Given the description of an element on the screen output the (x, y) to click on. 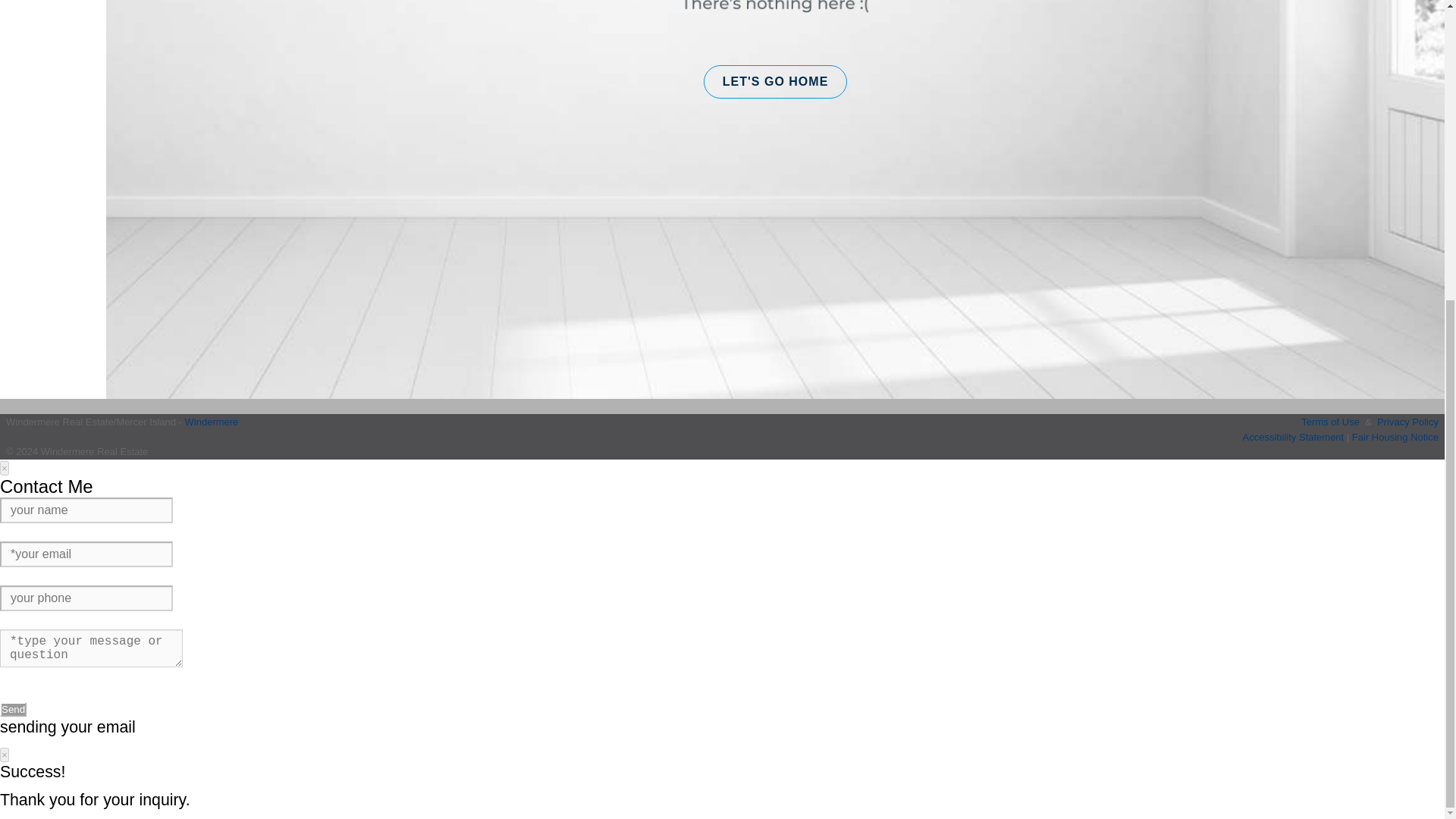
w-404-message-desktop (775, 12)
